Given the description of an element on the screen output the (x, y) to click on. 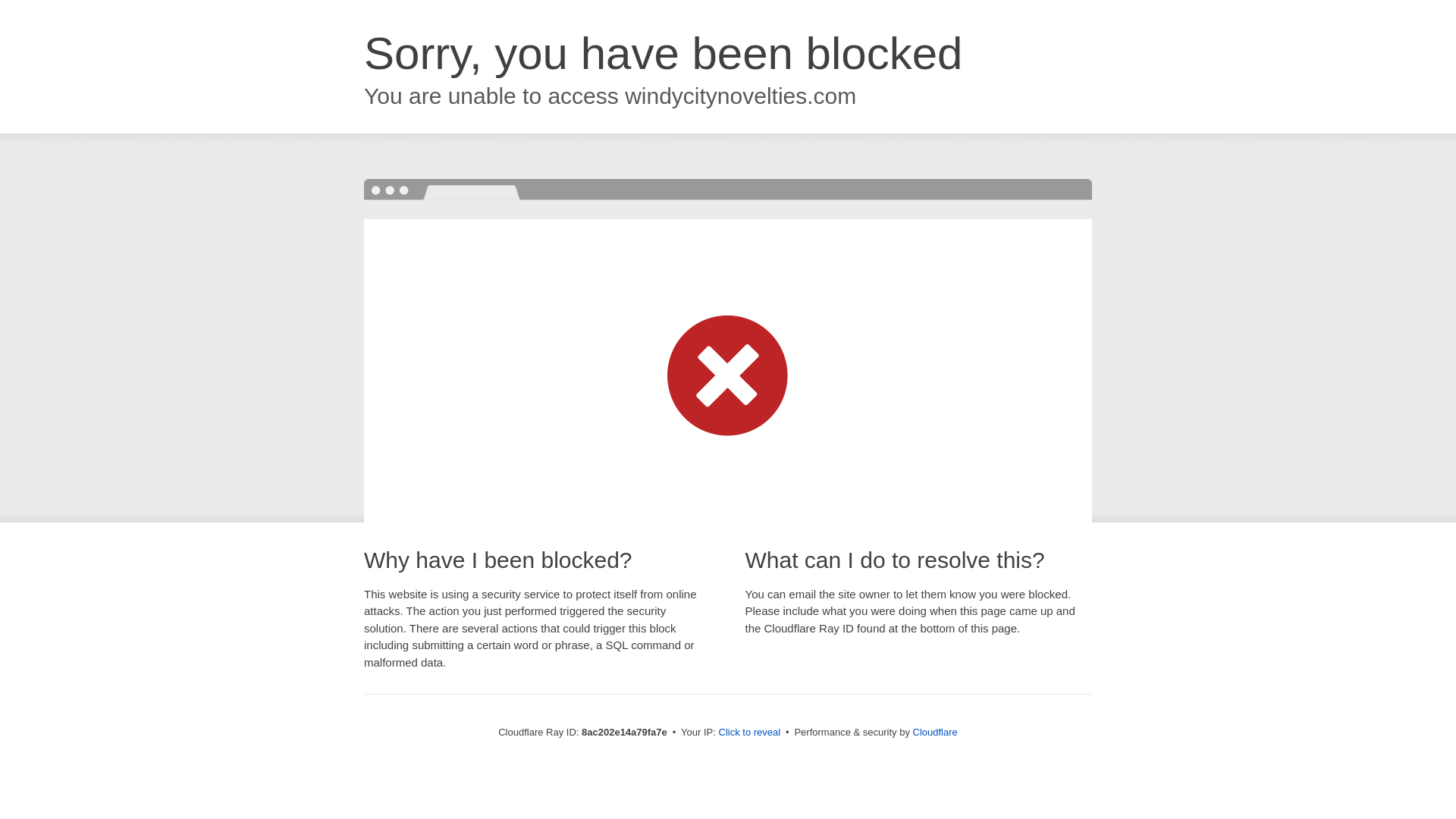
Cloudflare (935, 731)
Click to reveal (749, 732)
